Given the description of an element on the screen output the (x, y) to click on. 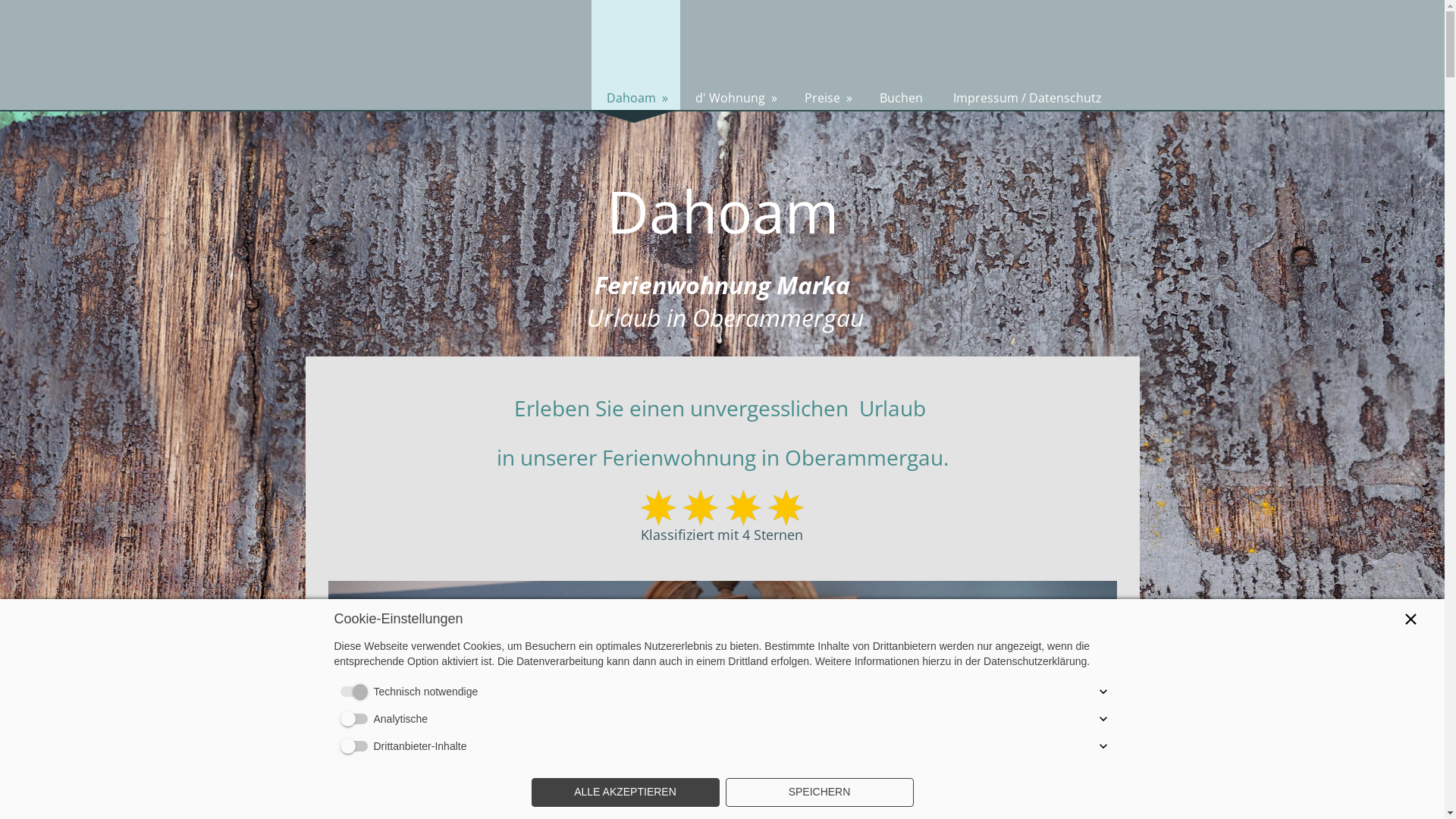
ALLE AKZEPTIEREN Element type: text (624, 792)
Impressum / Datenschutz Element type: text (1026, 54)
Ferienwohnung Marka Element type: hover (721, 507)
SPEICHERN Element type: text (818, 792)
Preise Element type: text (825, 54)
Dahoam Element type: text (635, 54)
Buchen Element type: text (901, 54)
d' Wohnung Element type: text (733, 54)
